Given the description of an element on the screen output the (x, y) to click on. 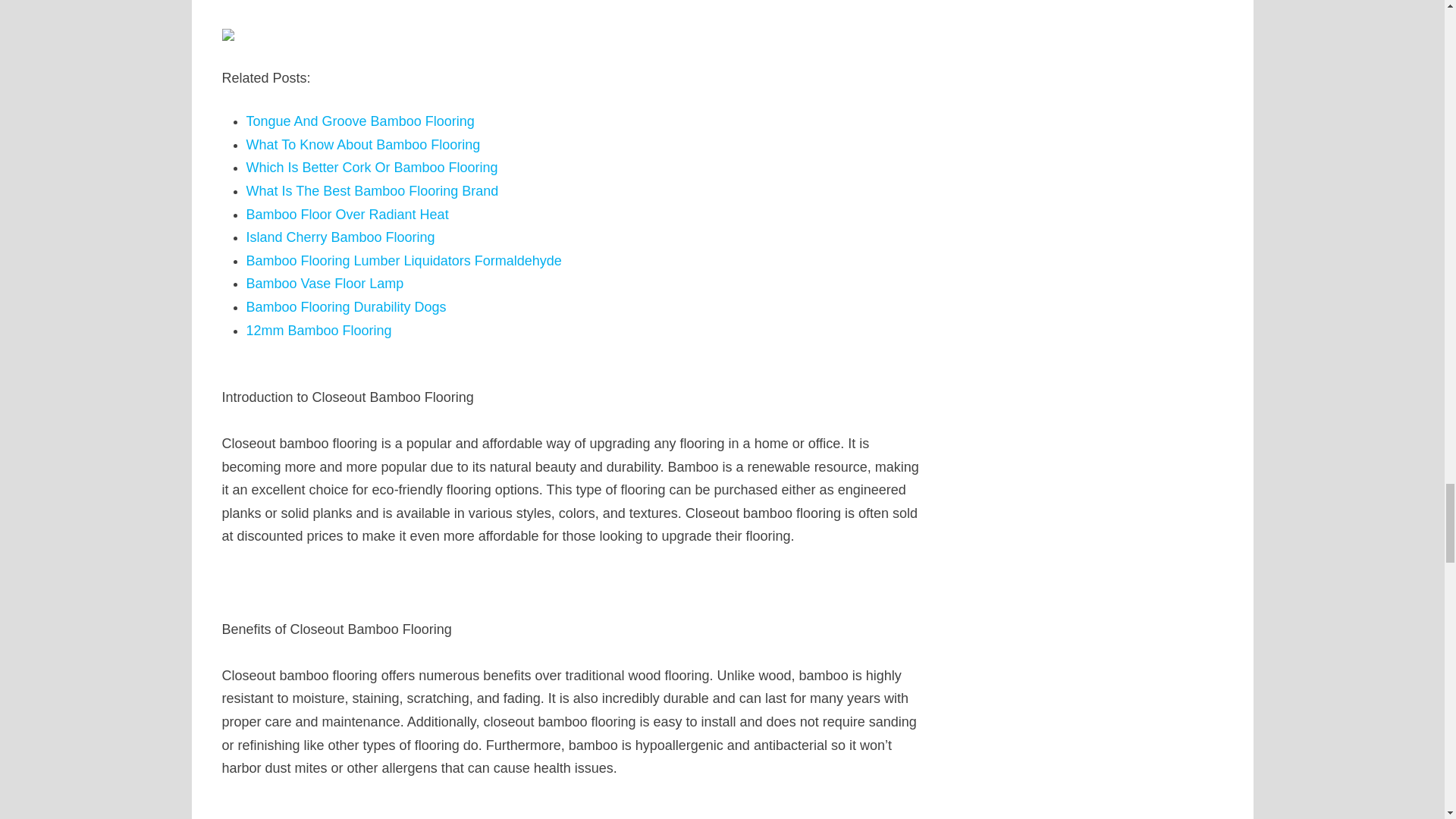
Bamboo Flooring Durability Dogs (345, 306)
Bamboo Flooring Lumber Liquidators Formaldehyde (403, 260)
What Is The Best Bamboo Flooring Brand (371, 191)
Bamboo Vase Floor Lamp (324, 283)
Bamboo Floor Over Radiant Heat (347, 214)
Tongue And Groove Bamboo Flooring (360, 120)
Island Cherry Bamboo Flooring (339, 237)
What To Know About Bamboo Flooring (363, 144)
12mm Bamboo Flooring (318, 330)
Which Is Better Cork Or Bamboo Flooring (371, 167)
